Given the description of an element on the screen output the (x, y) to click on. 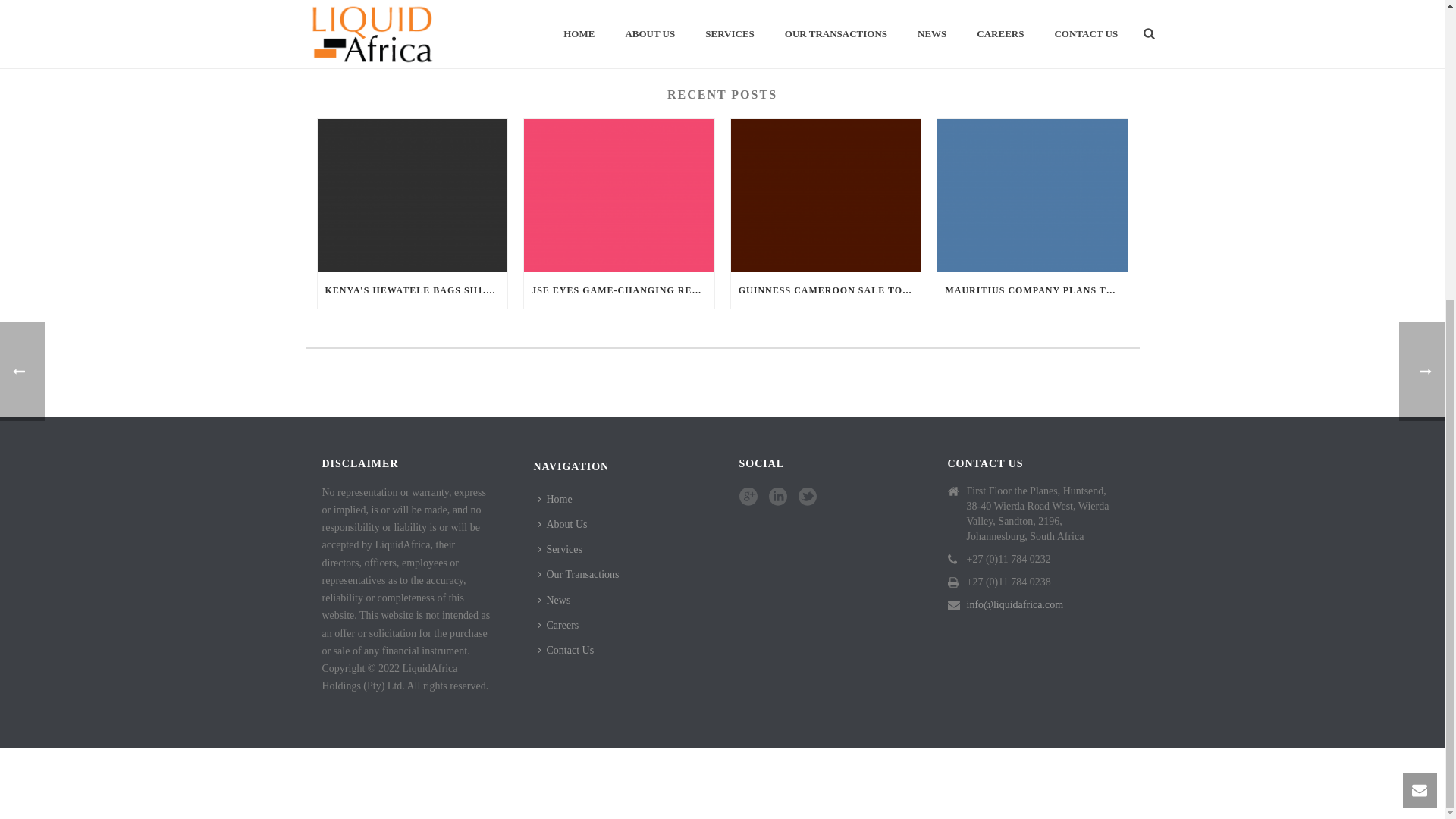
Follow Us on googleplus (747, 497)
Follow Us on twitter (806, 497)
Mauritius company plans to buy off Cipla Quality Chemicals (1031, 194)
Home (558, 498)
MAURITIUS COMPANY PLANS TO BUY OFF CIPLA QUALITY CHEMICALS (1031, 289)
Follow Us on linkedin (777, 497)
About Us (566, 524)
